Given the description of an element on the screen output the (x, y) to click on. 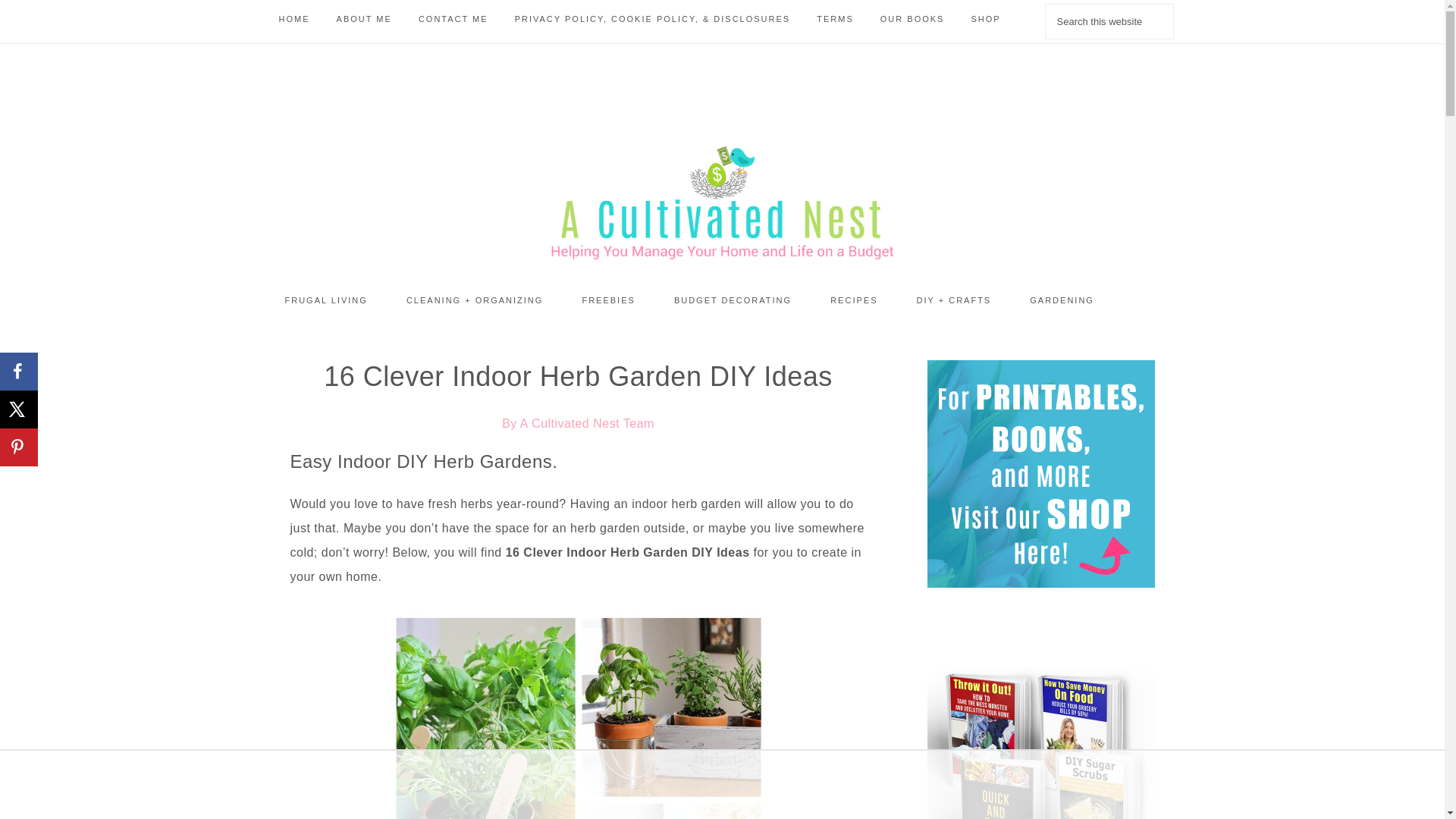
BUDGET DECORATING (732, 300)
TERMS (834, 19)
FRUGAL LIVING (325, 300)
CONTACT ME (453, 19)
FREEBIES (608, 300)
HOME (293, 19)
A CULTIVATED NEST (721, 203)
RECIPES (853, 300)
SHOP (985, 19)
OUR BOOKS (912, 19)
ABOUT ME (363, 19)
